Given the description of an element on the screen output the (x, y) to click on. 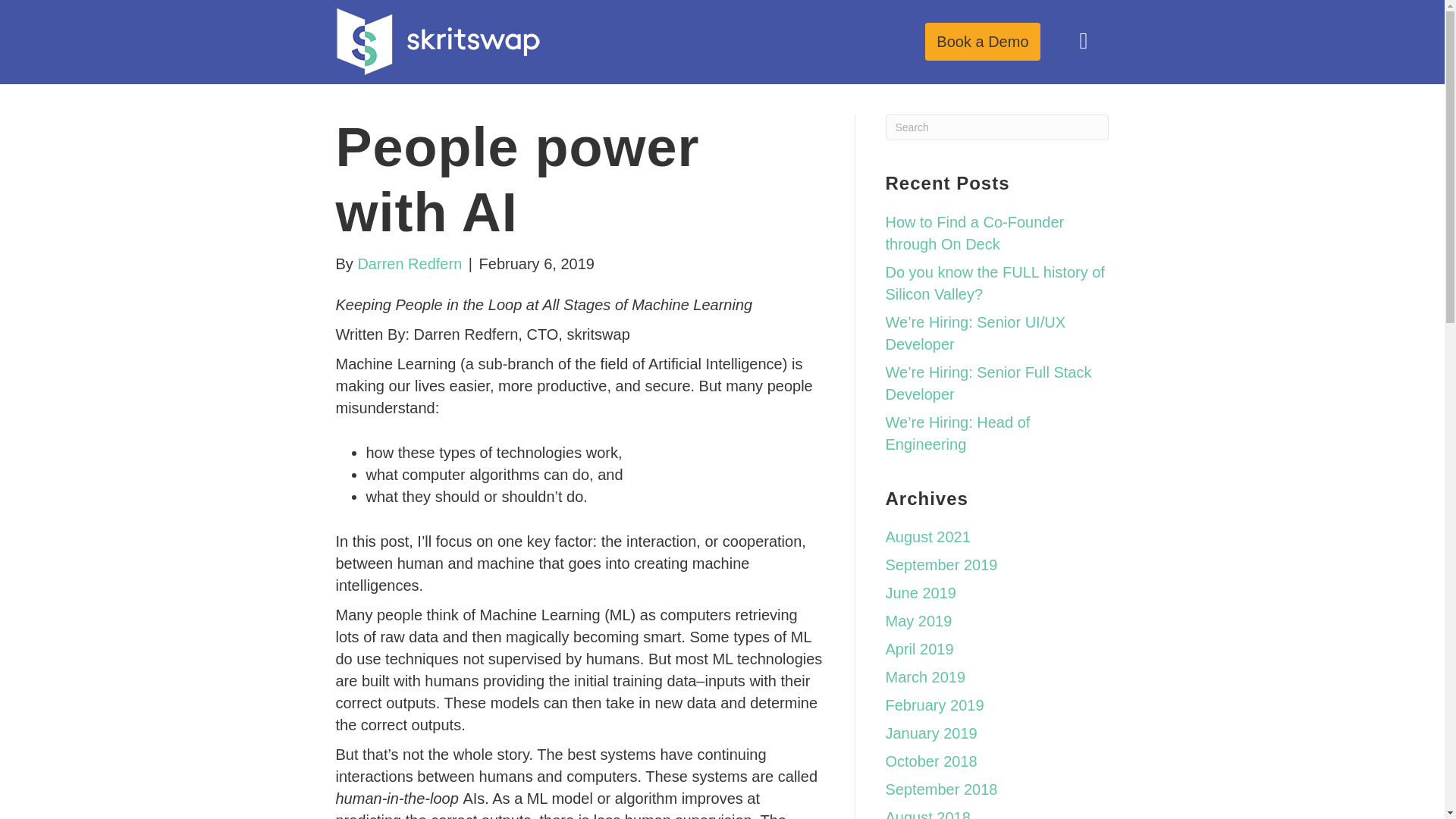
September 2018 (941, 789)
April 2019 (919, 648)
June 2019 (920, 592)
Type and press Enter to search. (997, 127)
February 2019 (934, 704)
August 2018 (928, 814)
Darren Redfern (408, 263)
March 2019 (925, 677)
Book a Demo (981, 41)
Do you know the FULL history of Silicon Valley? (995, 282)
